Given the description of an element on the screen output the (x, y) to click on. 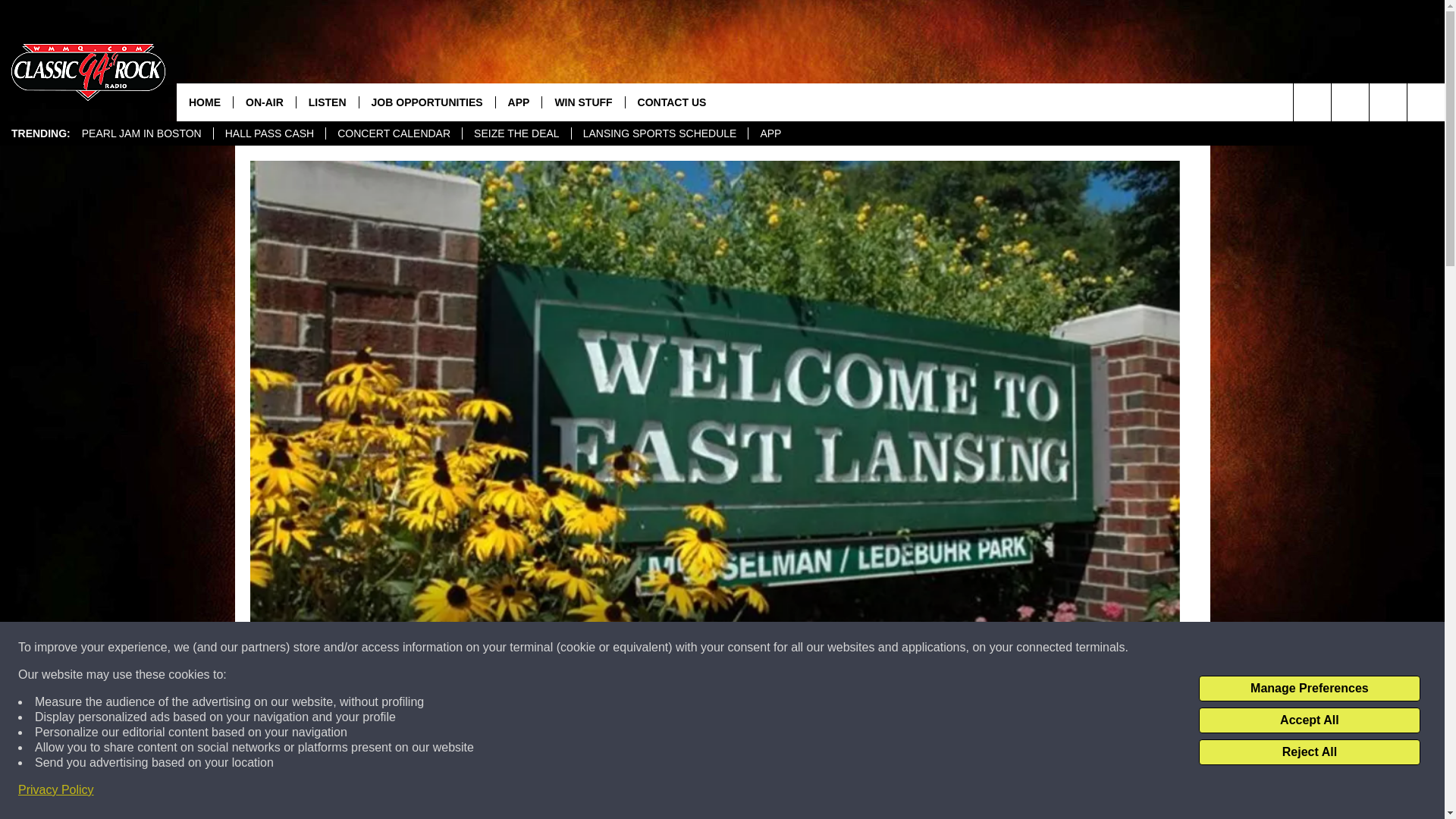
CONTACT US (671, 102)
JOB OPPORTUNITIES (426, 102)
APP (518, 102)
Reject All (1309, 751)
Privacy Policy (55, 789)
Manage Preferences (1309, 688)
HALL PASS CASH (269, 133)
WIN STUFF (582, 102)
APP (770, 133)
PEARL JAM IN BOSTON (140, 133)
Accept All (1309, 720)
SEIZE THE DEAL (515, 133)
LANSING SPORTS SCHEDULE (659, 133)
LISTEN (326, 102)
HOME (204, 102)
